Given the description of an element on the screen output the (x, y) to click on. 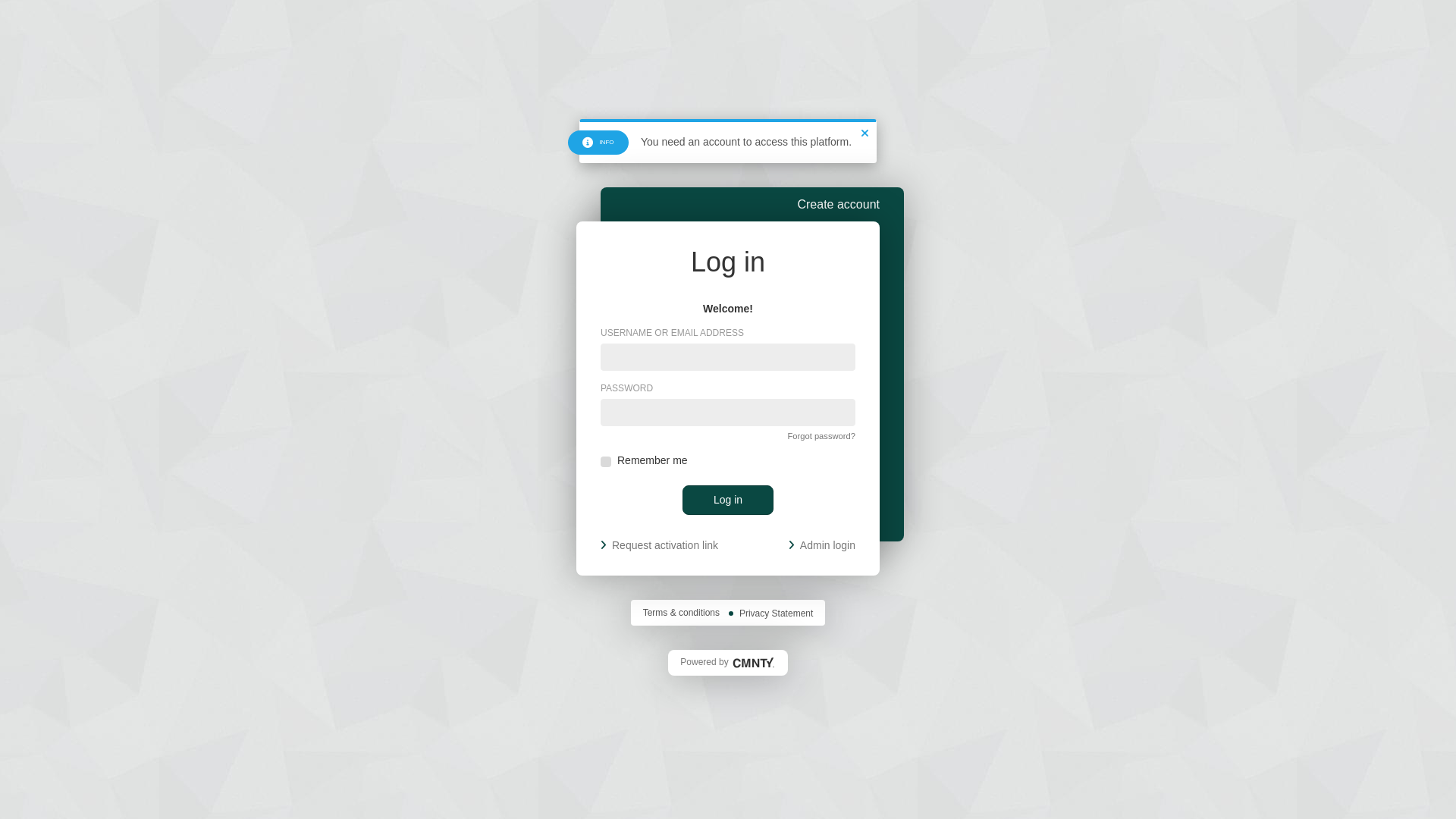
Forgot password? Element type: text (821, 435)
Create account Element type: text (838, 204)
Terms & conditions Element type: text (681, 612)
Privacy Statement Element type: text (775, 613)
Request activation link Element type: text (659, 545)
Admin login Element type: text (821, 545)
Log in Element type: text (727, 499)
Powered by Element type: text (727, 662)
